Given the description of an element on the screen output the (x, y) to click on. 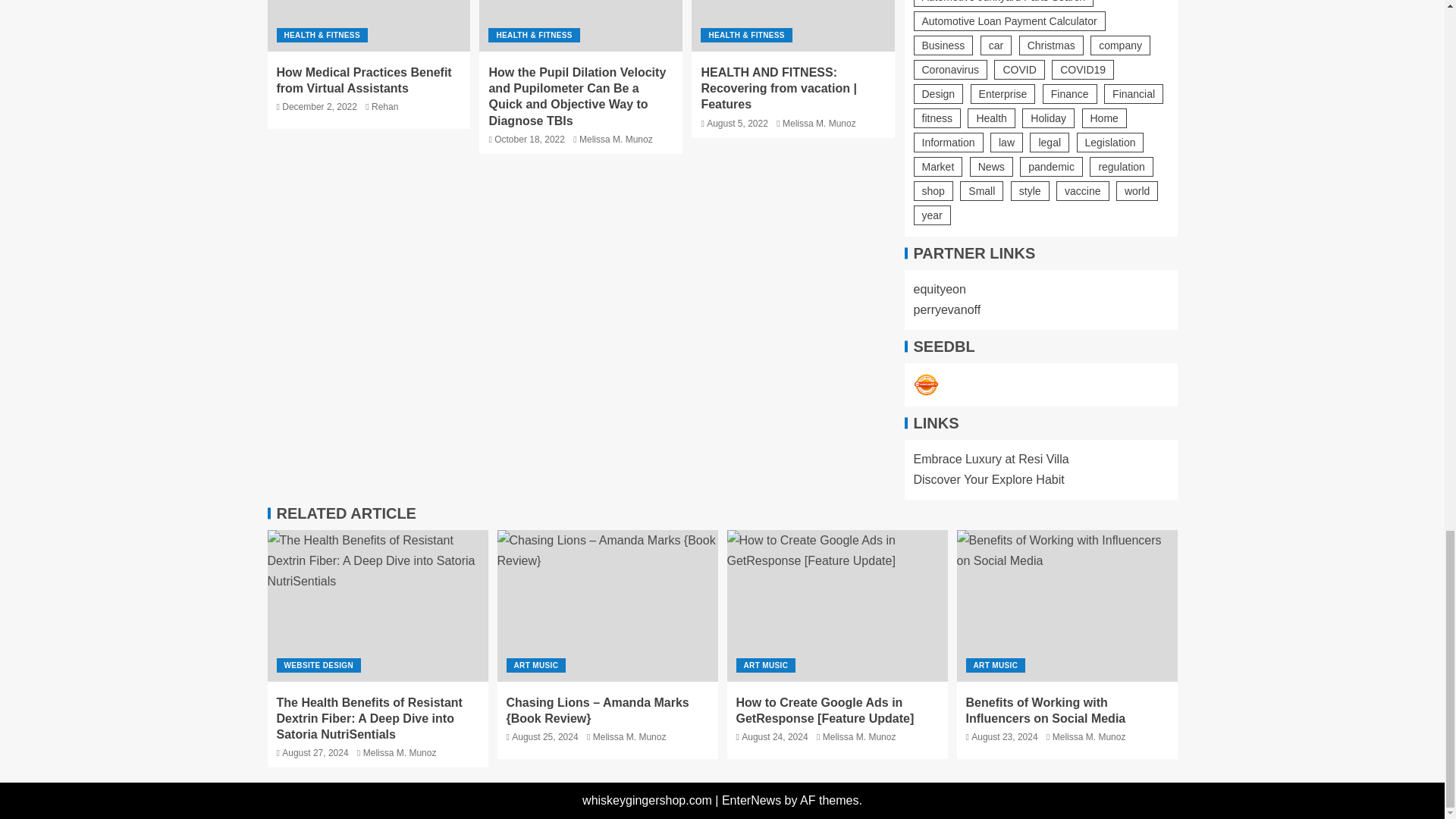
Seedbacklink (925, 385)
Rehan (384, 106)
How Medical Practices Benefit from Virtual Assistants  (363, 80)
